Given the description of an element on the screen output the (x, y) to click on. 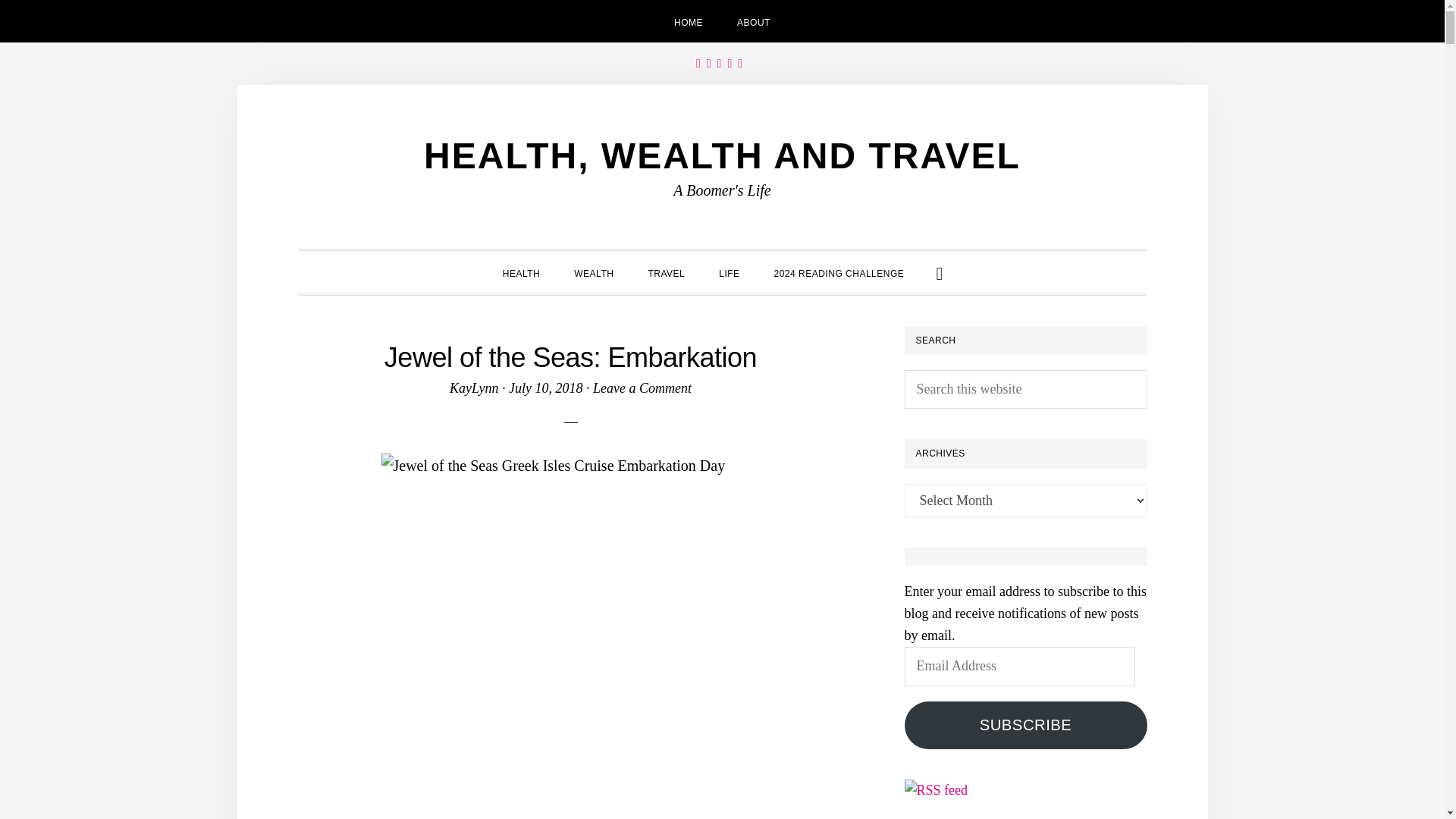
HEALTH (520, 271)
HOME (688, 21)
TRAVEL (665, 271)
Subscribe to posts (936, 789)
HEALTH, WEALTH AND TRAVEL (721, 155)
WEALTH (593, 271)
ABOUT (754, 21)
